Given the description of an element on the screen output the (x, y) to click on. 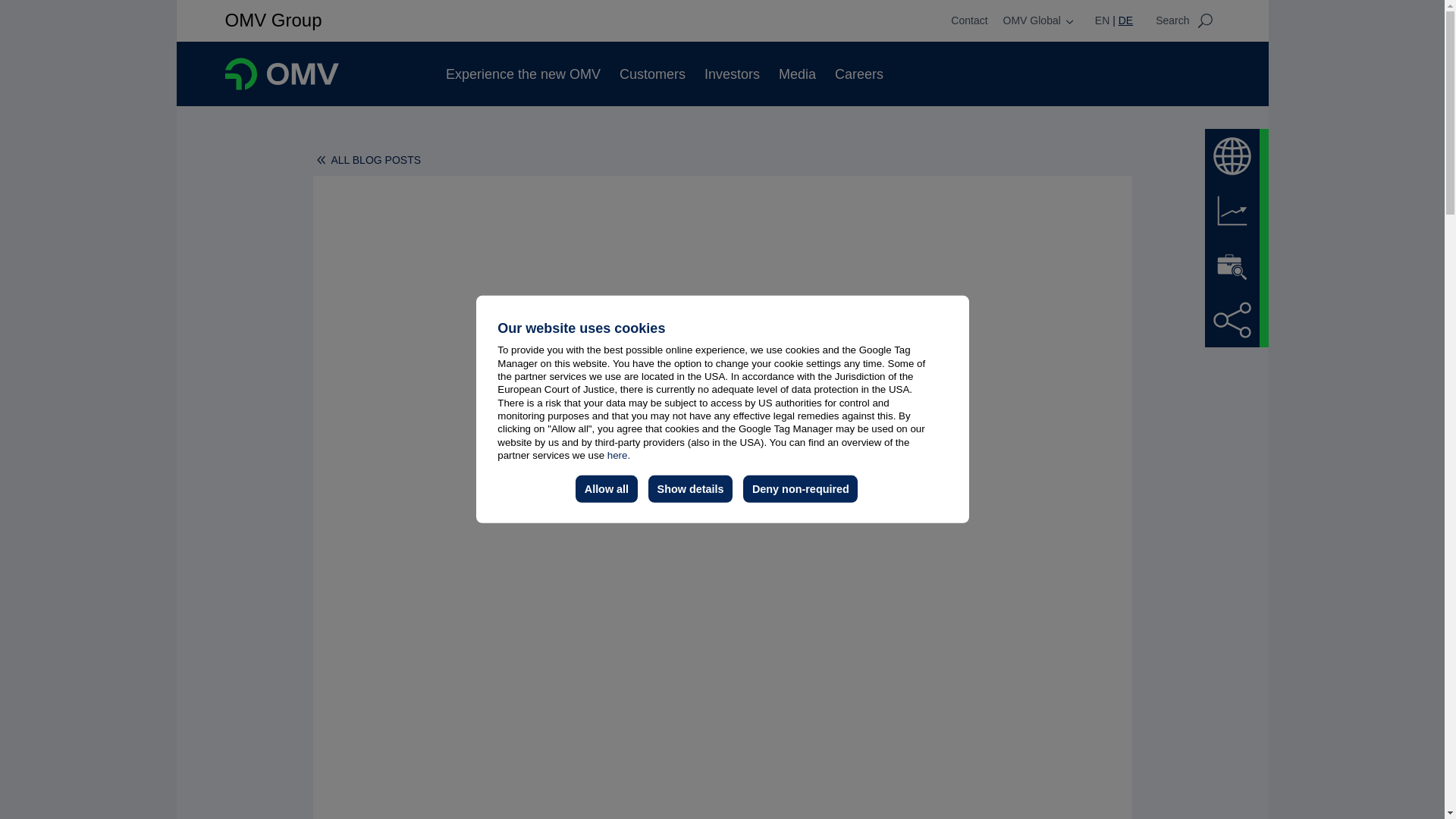
Customers (652, 74)
here. (618, 455)
Investors (732, 74)
Show details (689, 488)
OMV Group (272, 20)
Media (796, 74)
Deny non-required (799, 488)
Experience the new OMV (522, 74)
Contact (968, 20)
